Given the description of an element on the screen output the (x, y) to click on. 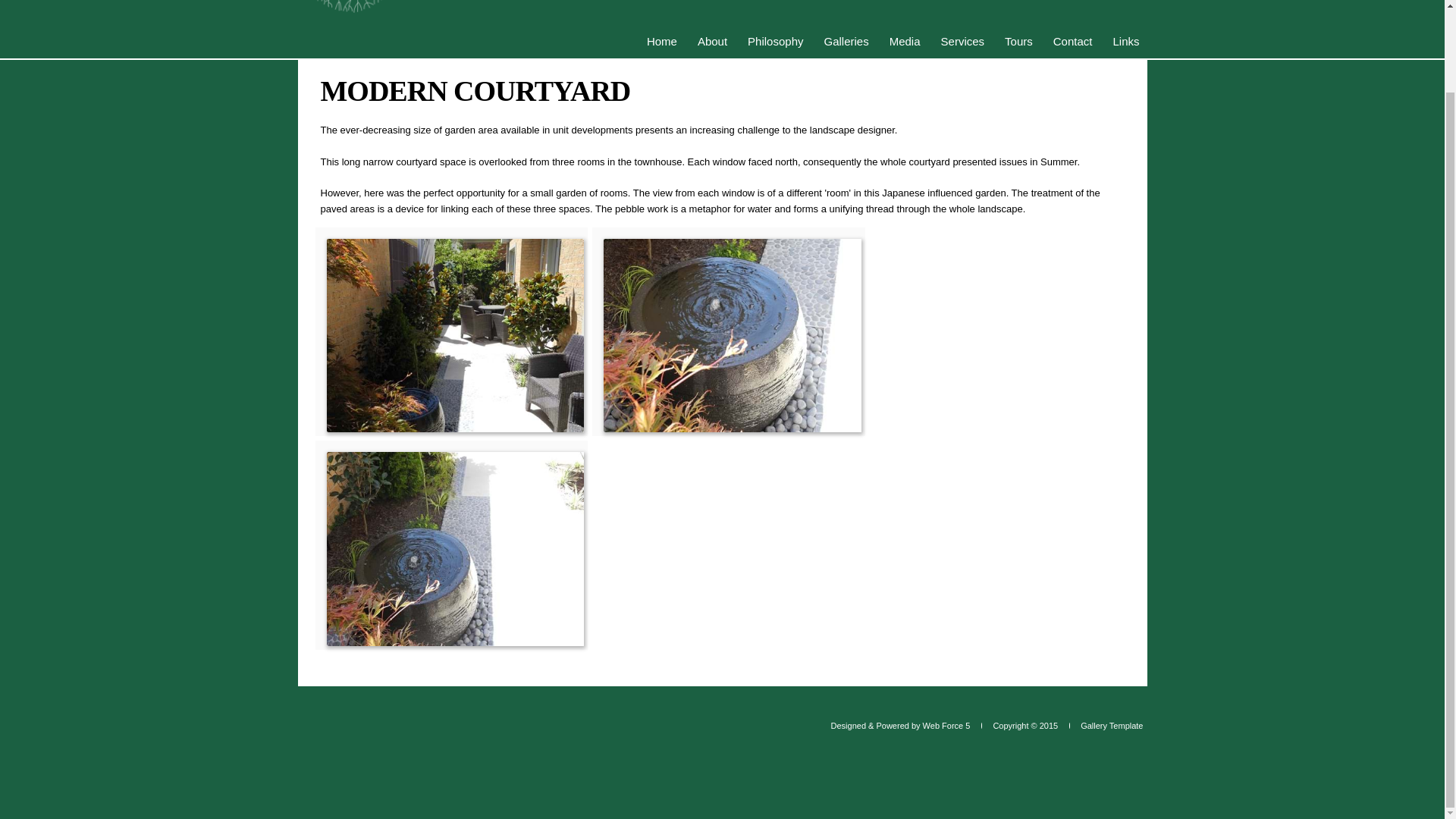
Gallery Template (1105, 725)
Home (661, 41)
Galleries (845, 41)
Links (1125, 41)
Media (905, 41)
Contact (1072, 41)
Services (962, 41)
About (712, 41)
Tours (1018, 41)
Philosophy (775, 41)
